Given the description of an element on the screen output the (x, y) to click on. 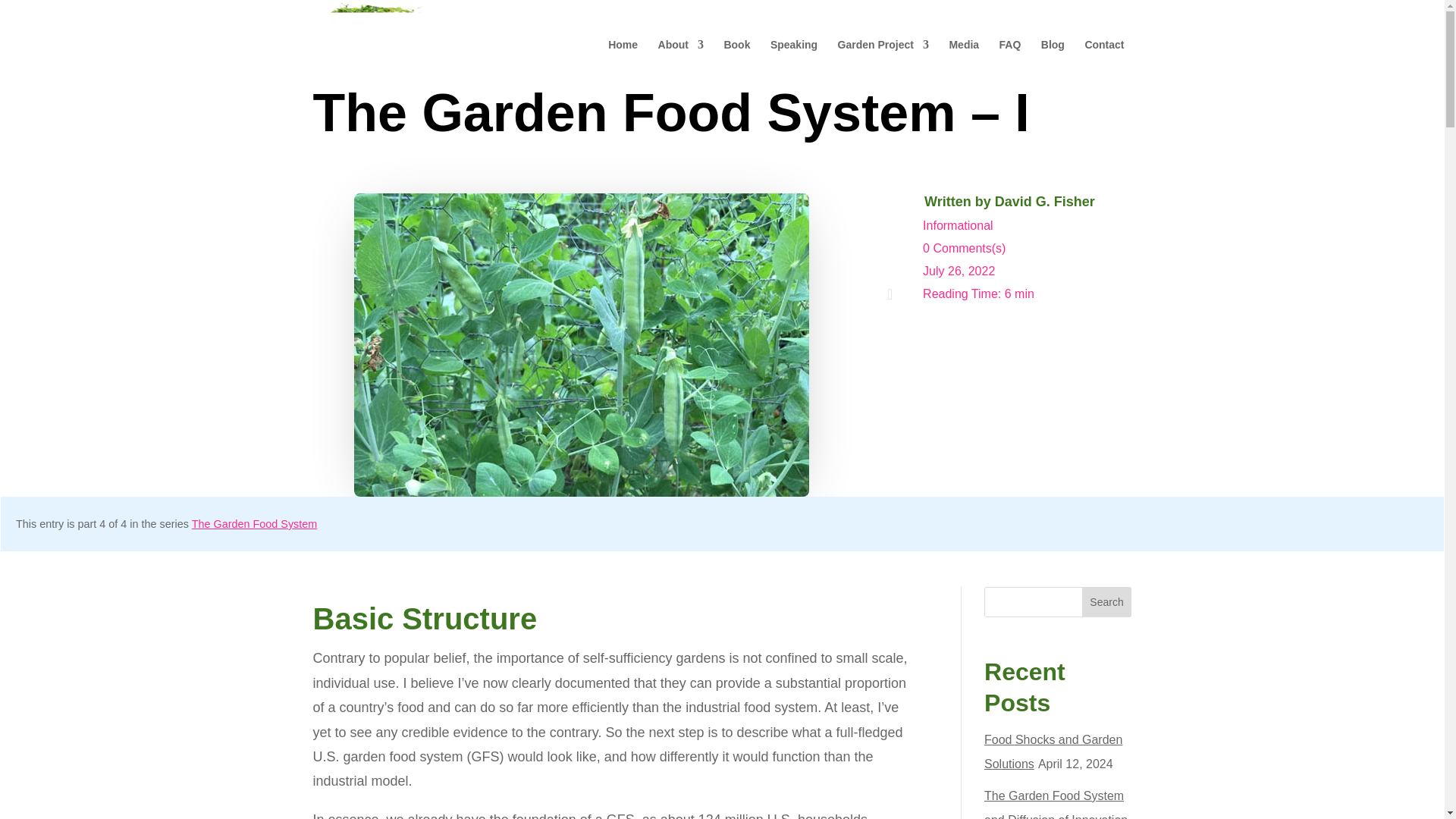
David G. Fisher (1044, 201)
The Garden Food System (254, 523)
The Garden Food System (1312, 604)
The Garden Food System and Diffusion of Innovation Part I (1055, 804)
Contact (1104, 59)
Search (1106, 602)
The Garden Food System (1312, 604)
The Garden Food System (254, 523)
Speaking (793, 59)
